Given the description of an element on the screen output the (x, y) to click on. 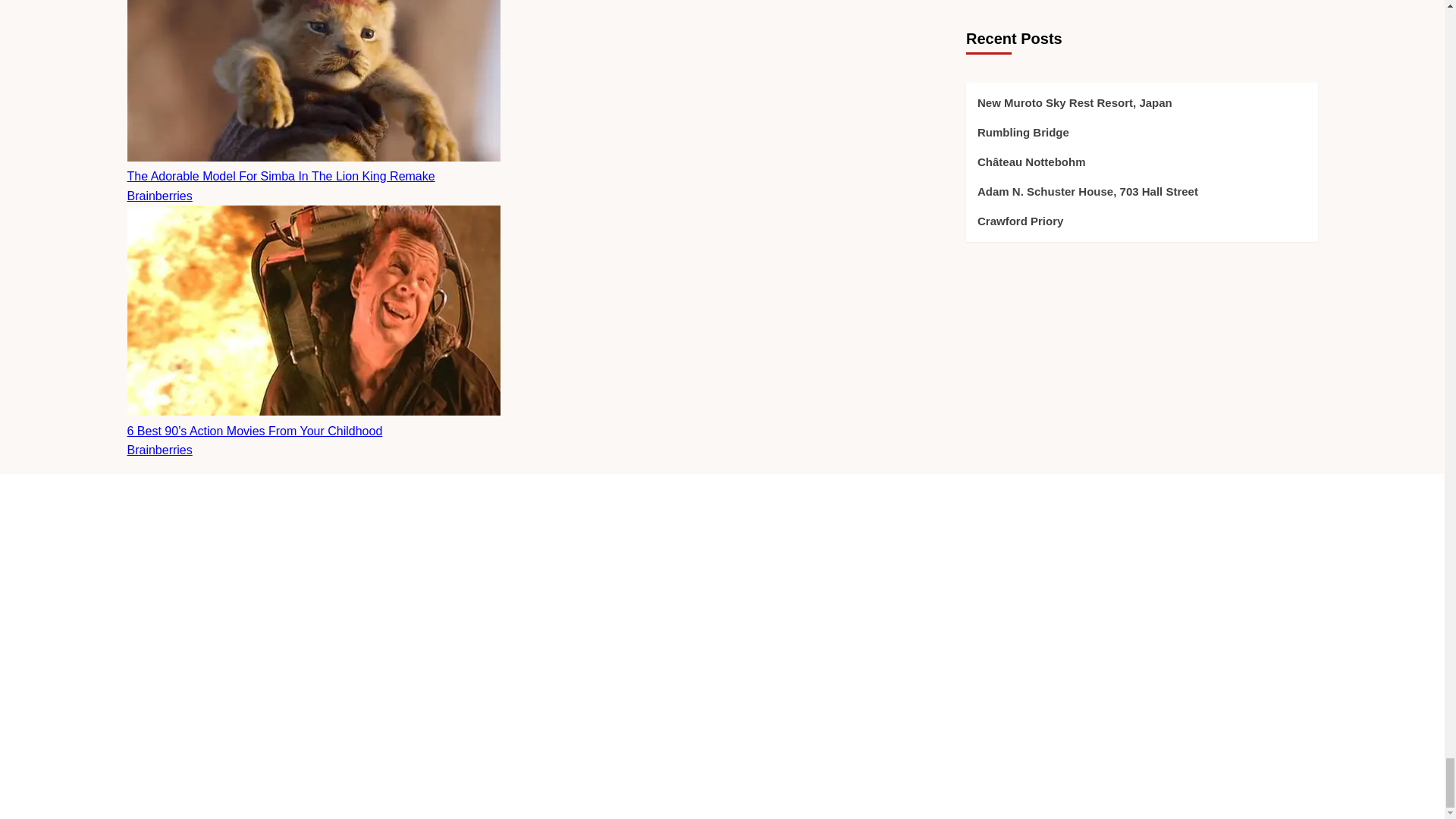
Stories (947, 726)
Recipes (950, 697)
Forgotten (954, 629)
Adam N. Schuster House, 703 Hall Street (722, 695)
Animals (950, 595)
Rumbling Bridge (722, 627)
Crawford Priory (722, 722)
New Muroto Sky Rest Resort, Japan (722, 594)
